Given the description of an element on the screen output the (x, y) to click on. 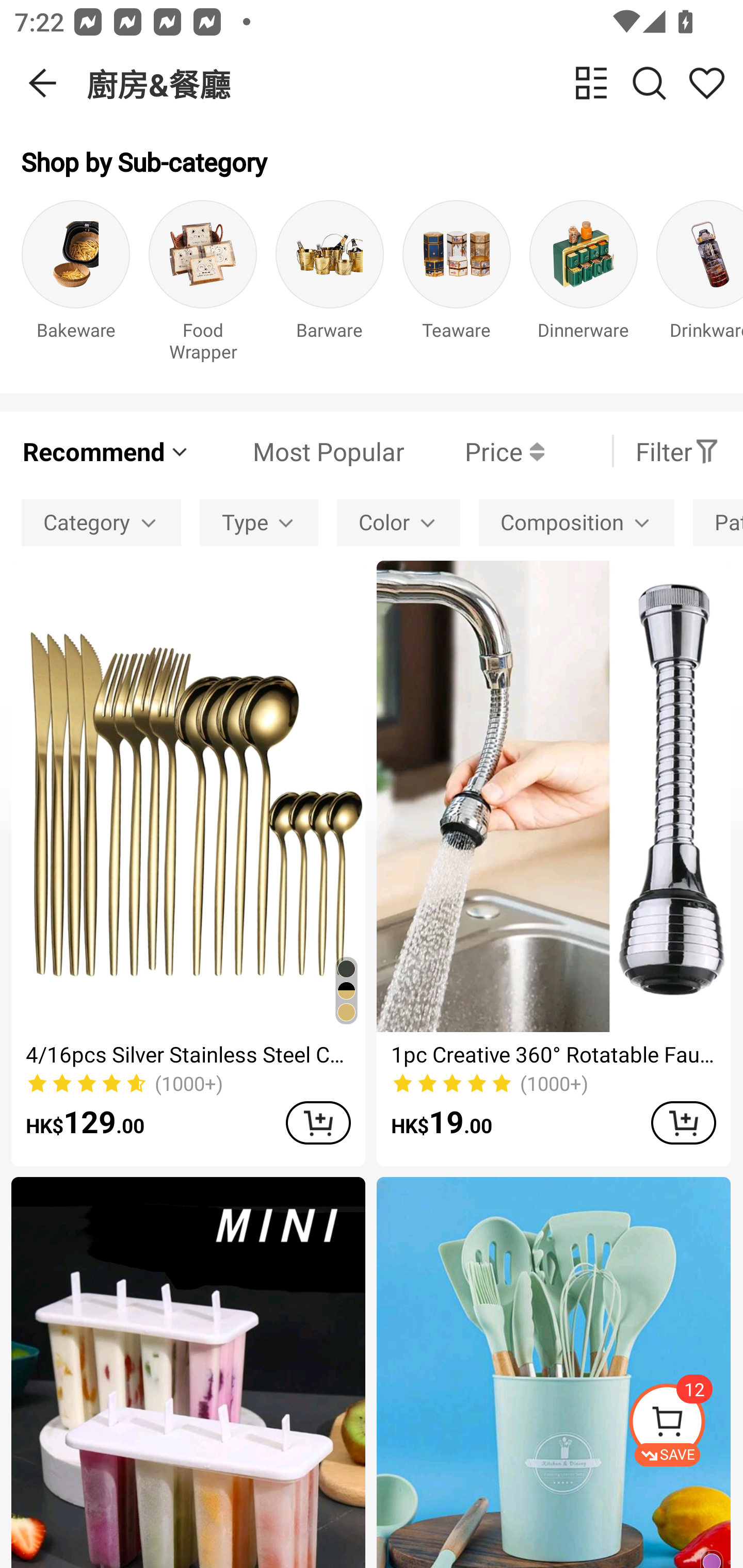
廚房&餐廳 change view Search Share (414, 82)
change view (591, 82)
Search (648, 82)
Share (706, 82)
Bakeware (75, 285)
Food Wrapper (202, 285)
Barware (329, 285)
Teaware (456, 285)
Dinnerware (583, 285)
Drinkware (699, 285)
Recommend (106, 450)
Most Popular (297, 450)
Price (474, 450)
Filter (677, 450)
Category (101, 521)
Type (258, 521)
Color (397, 521)
Composition (576, 521)
ADD TO CART (318, 1122)
ADD TO CART (683, 1122)
SAVE (685, 1424)
